Given the description of an element on the screen output the (x, y) to click on. 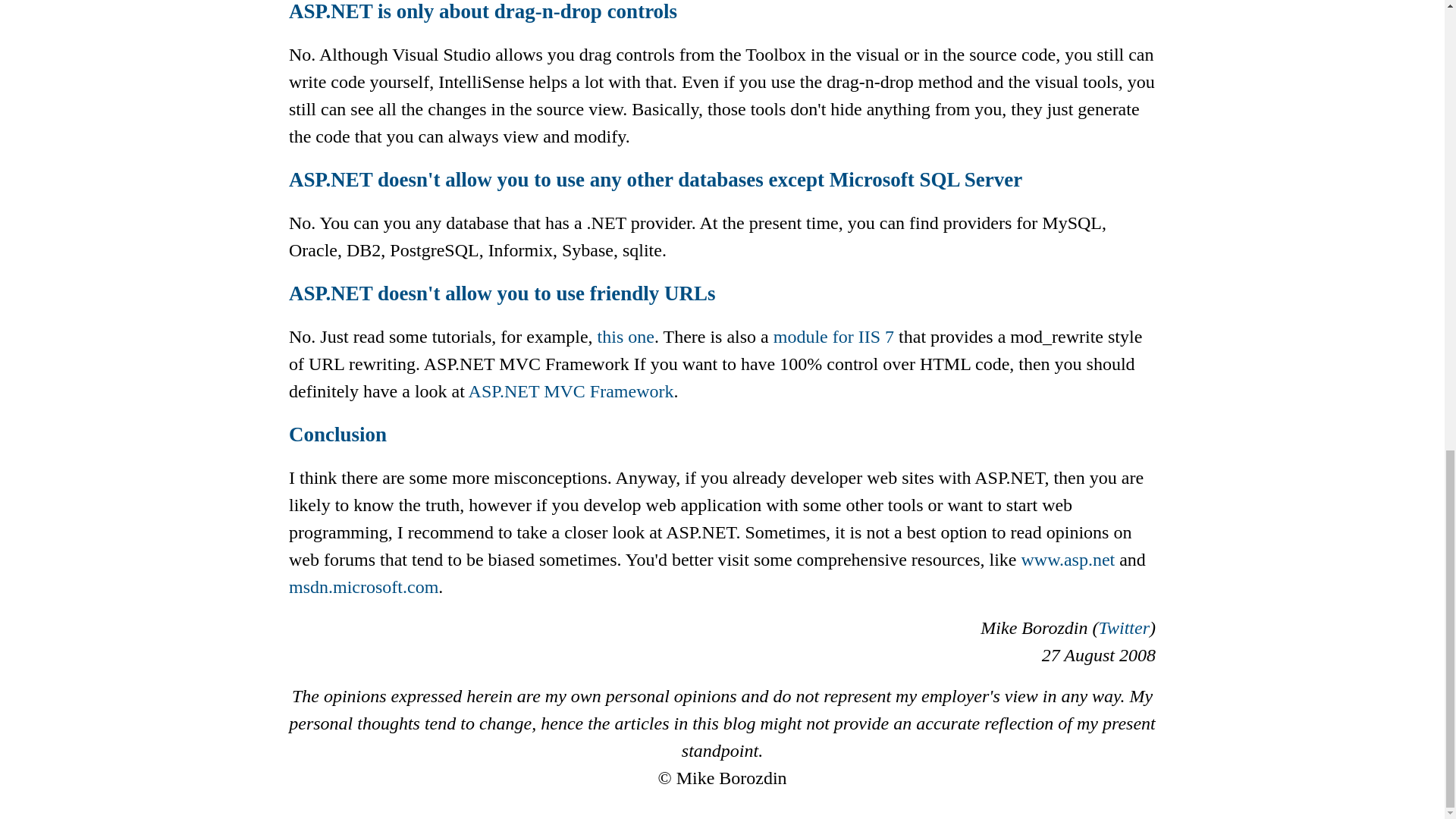
msdn.microsoft.com (363, 587)
www.asp.net (1067, 559)
Twitter (1123, 628)
ASP.NET MVC Framework (571, 391)
this one (624, 336)
module for IIS 7 (833, 336)
